Given the description of an element on the screen output the (x, y) to click on. 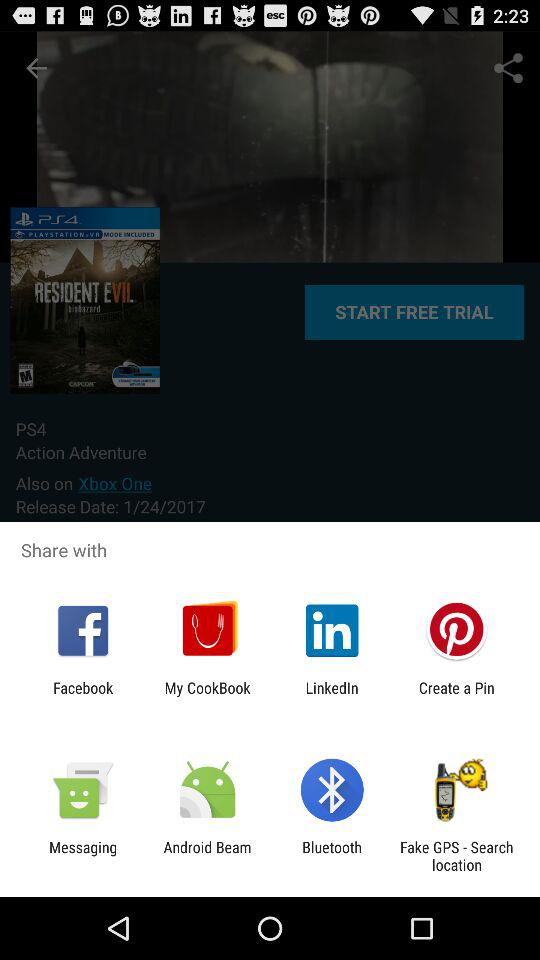
press the my cookbook app (207, 696)
